Given the description of an element on the screen output the (x, y) to click on. 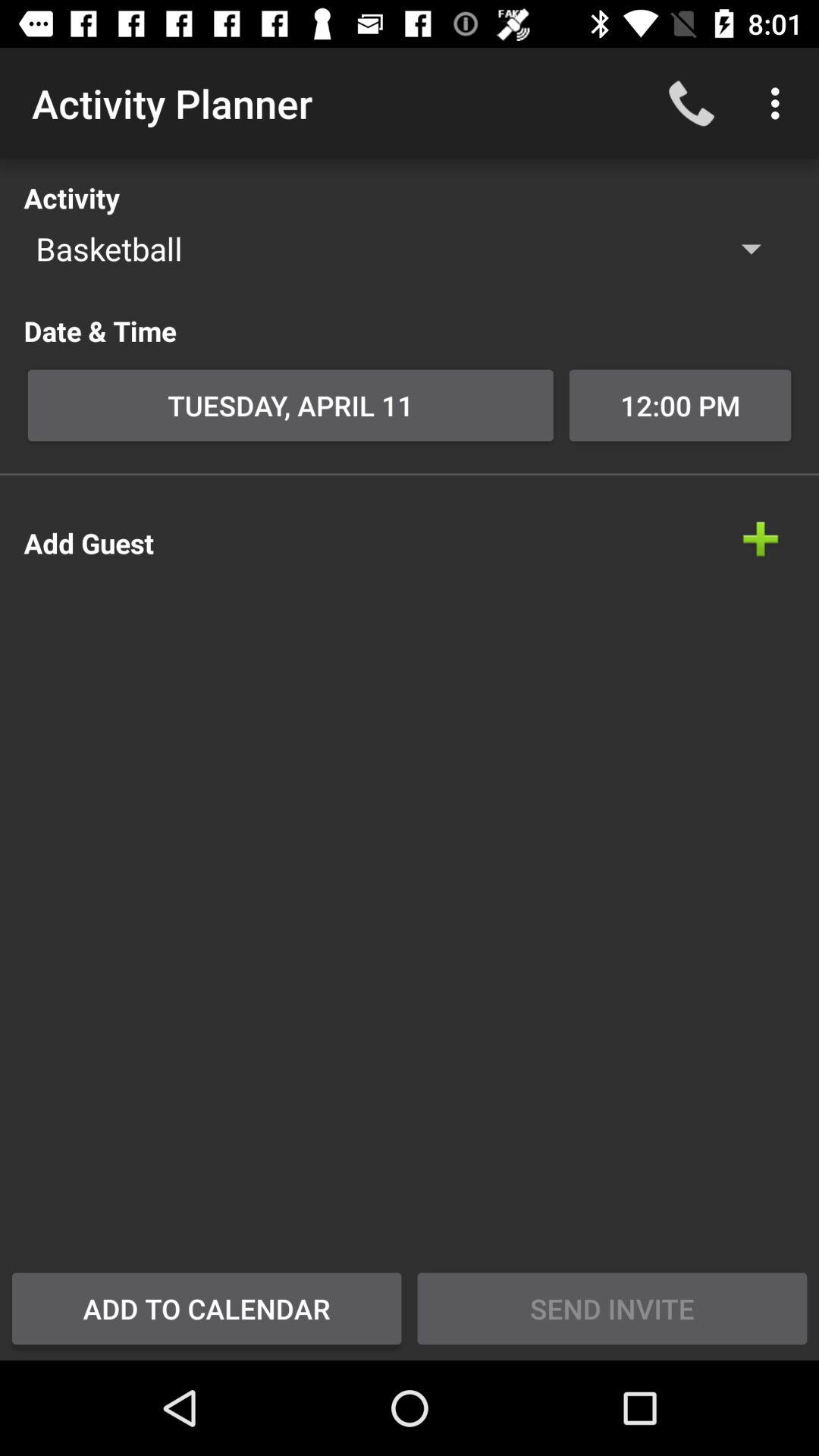
click the item next to tuesday, april 11 icon (680, 405)
